Given the description of an element on the screen output the (x, y) to click on. 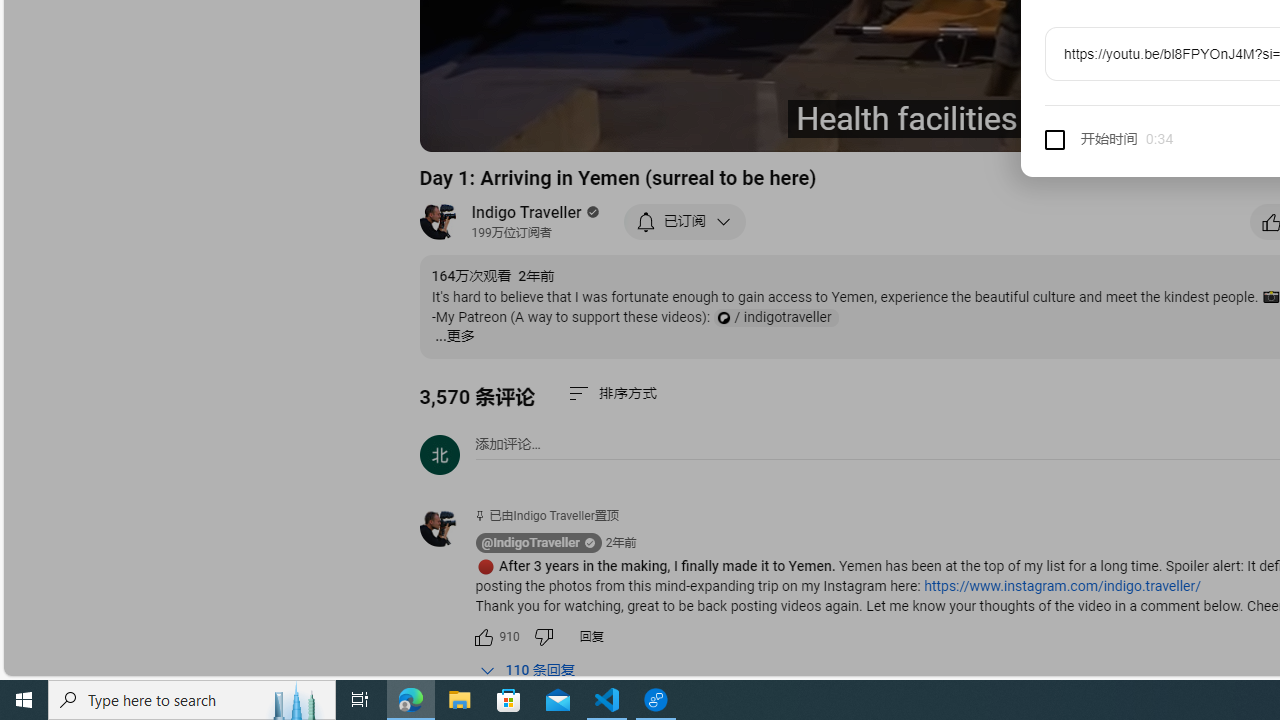
Indigo Traveller (527, 211)
AutomationID: simplebox-placeholder (507, 444)
